Given the description of an element on the screen output the (x, y) to click on. 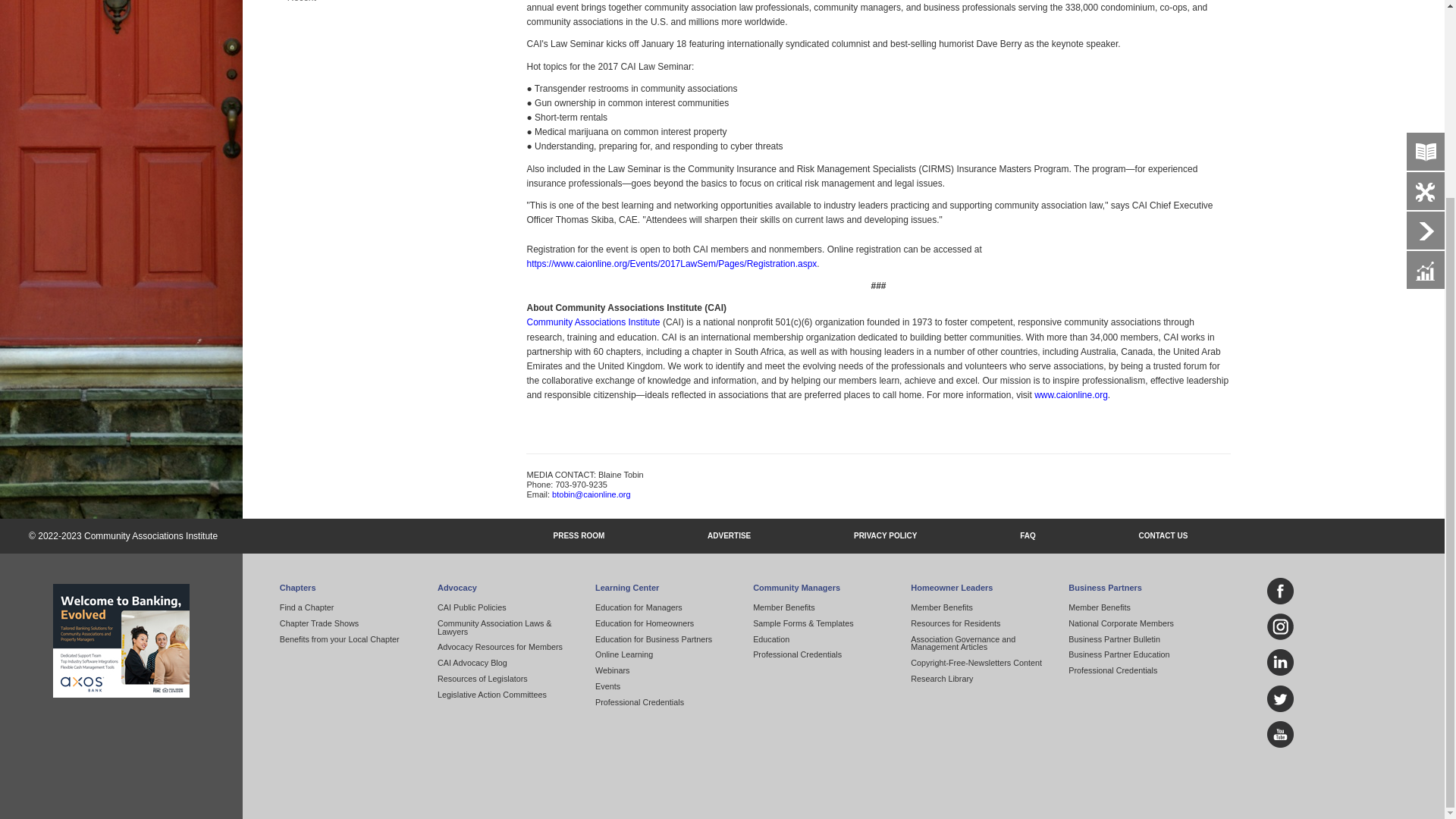
Facebook (1285, 591)
Axos Bank: Welcome to Banking, Evolved (120, 640)
Linkedin (1285, 662)
Twitter (1285, 698)
Instagram (1285, 626)
Youtube (1285, 734)
